Given the description of an element on the screen output the (x, y) to click on. 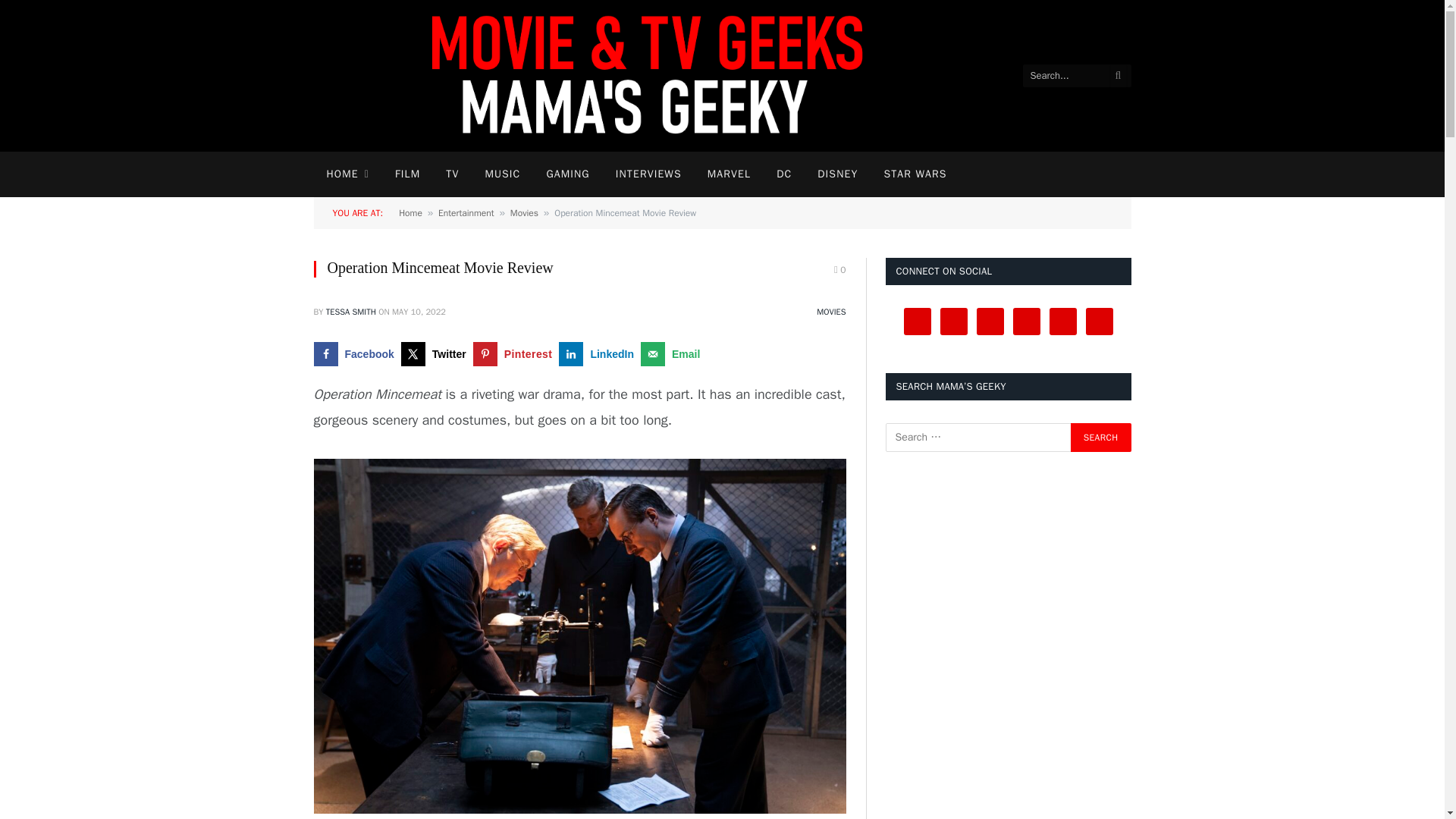
Mama's Geeky (668, 75)
Email (673, 354)
Search (1100, 437)
FILM (406, 174)
STAR WARS (914, 174)
Home (410, 213)
INTERVIEWS (648, 174)
TESSA SMITH (350, 311)
DC (783, 174)
MUSIC (501, 174)
Pinterest (516, 354)
MARVEL (728, 174)
MOVIES (830, 311)
Posts by Tessa Smith (350, 311)
Twitter (437, 354)
